Given the description of an element on the screen output the (x, y) to click on. 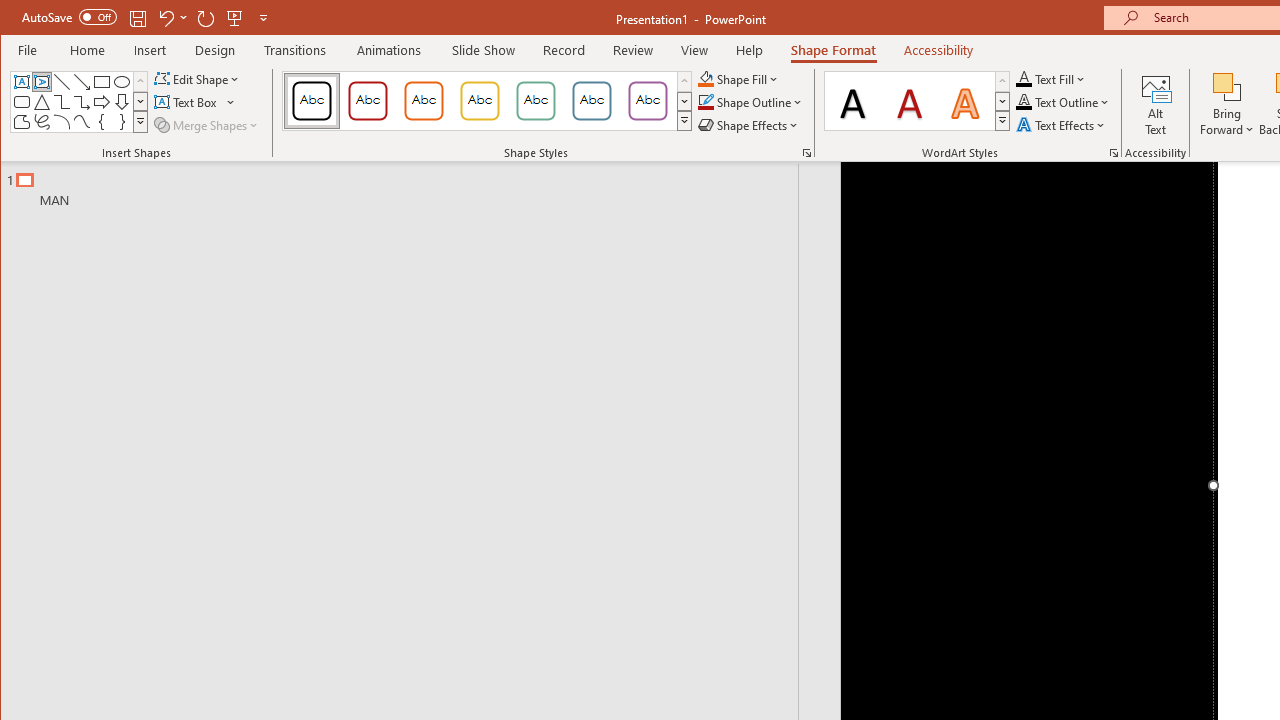
Text Outline (1062, 101)
Text Fill (1051, 78)
Colored Outline - Purple, Accent 6 (647, 100)
Fill: Dark Red, Accent color 1; Shadow (909, 100)
Colored Outline - Orange, Accent 2 (423, 100)
